Given the description of an element on the screen output the (x, y) to click on. 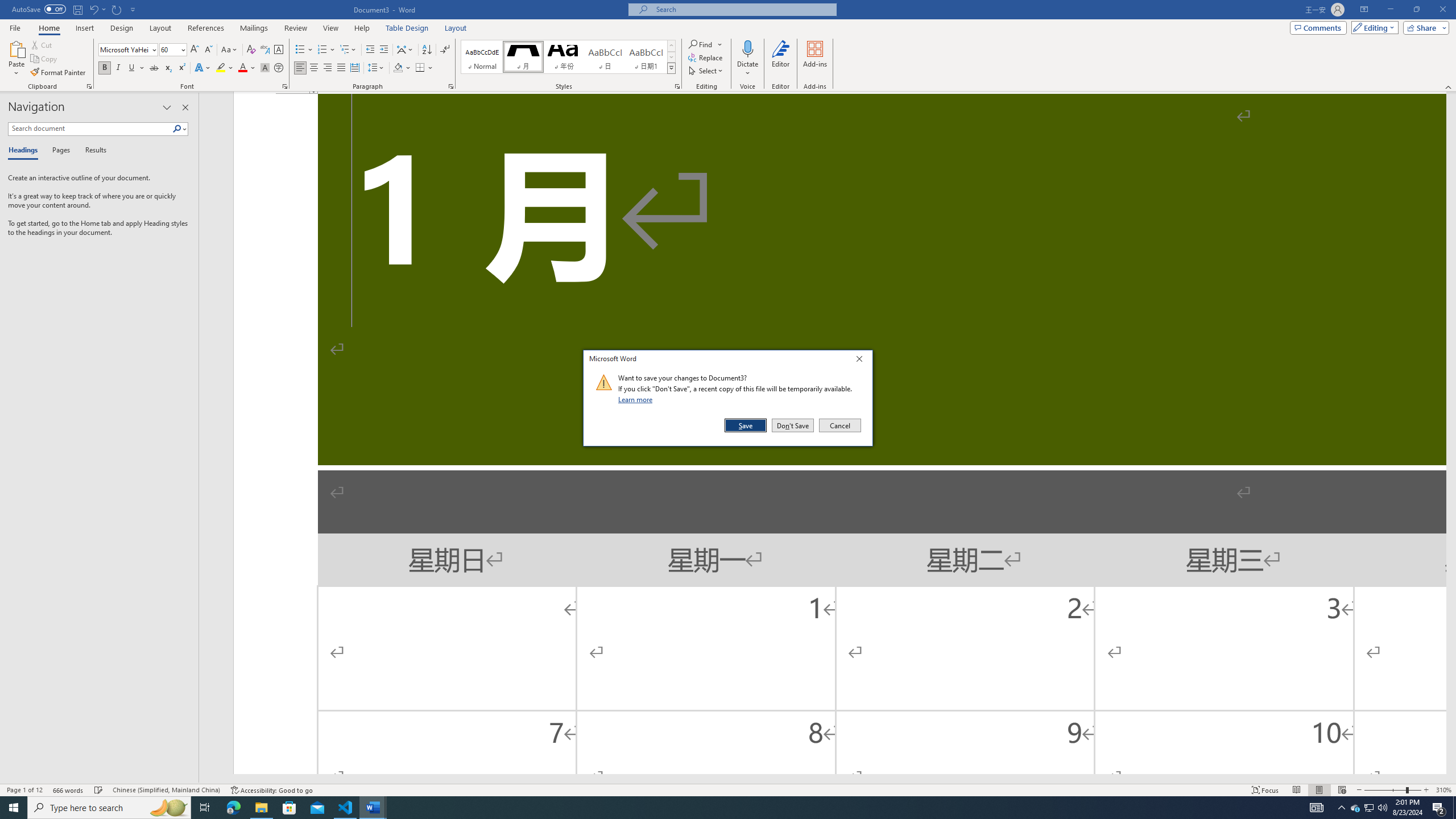
Type here to search (108, 807)
User Promoted Notification Area (1368, 807)
